Given the description of an element on the screen output the (x, y) to click on. 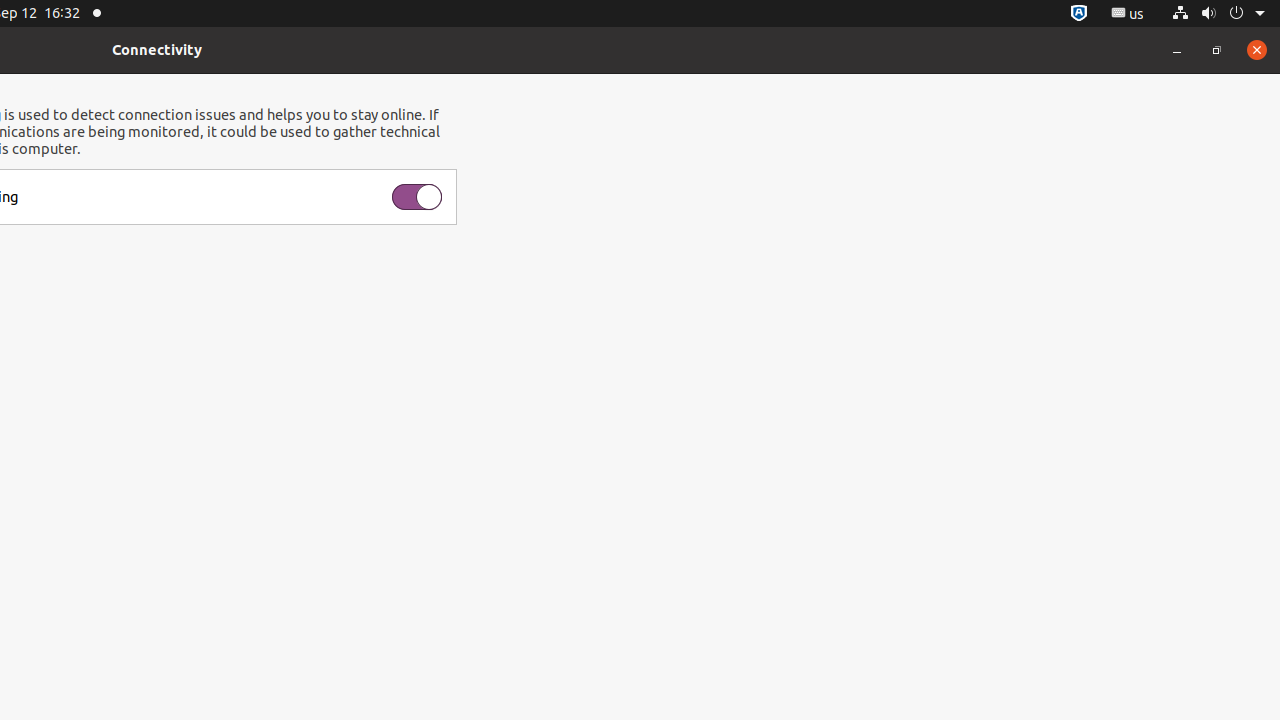
Minimize Element type: push-button (1177, 50)
Connectivity Element type: label (157, 49)
Restore Element type: push-button (1217, 50)
